Given the description of an element on the screen output the (x, y) to click on. 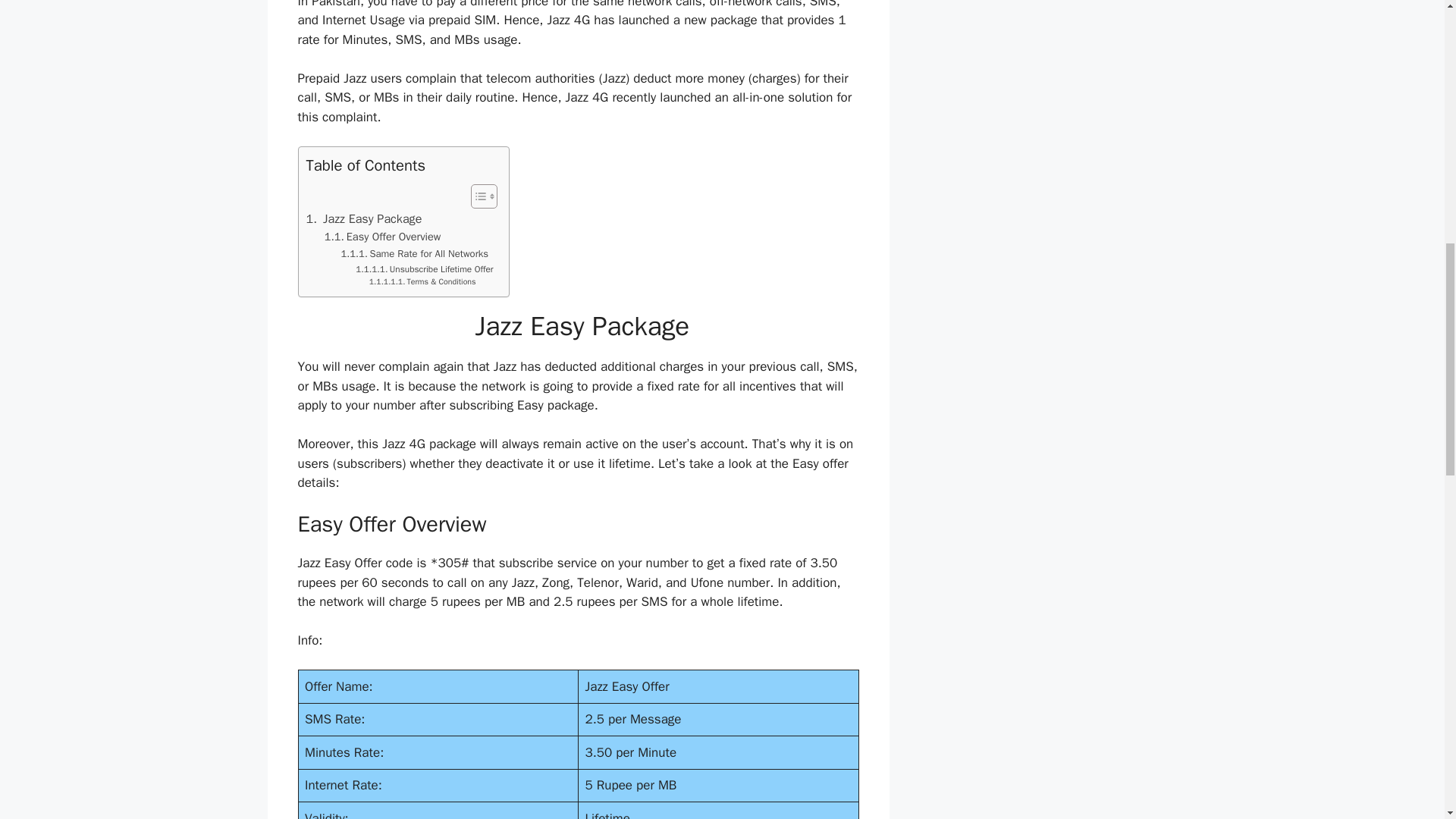
Unsubscribe Lifetime Offer (424, 269)
Same Rate for All Networks (414, 254)
Same Rate for All Networks (414, 254)
Easy Offer Overview (382, 236)
Unsubscribe Lifetime Offer (424, 269)
Easy Offer Overview (382, 236)
 Jazz Easy Package (363, 219)
